Given the description of an element on the screen output the (x, y) to click on. 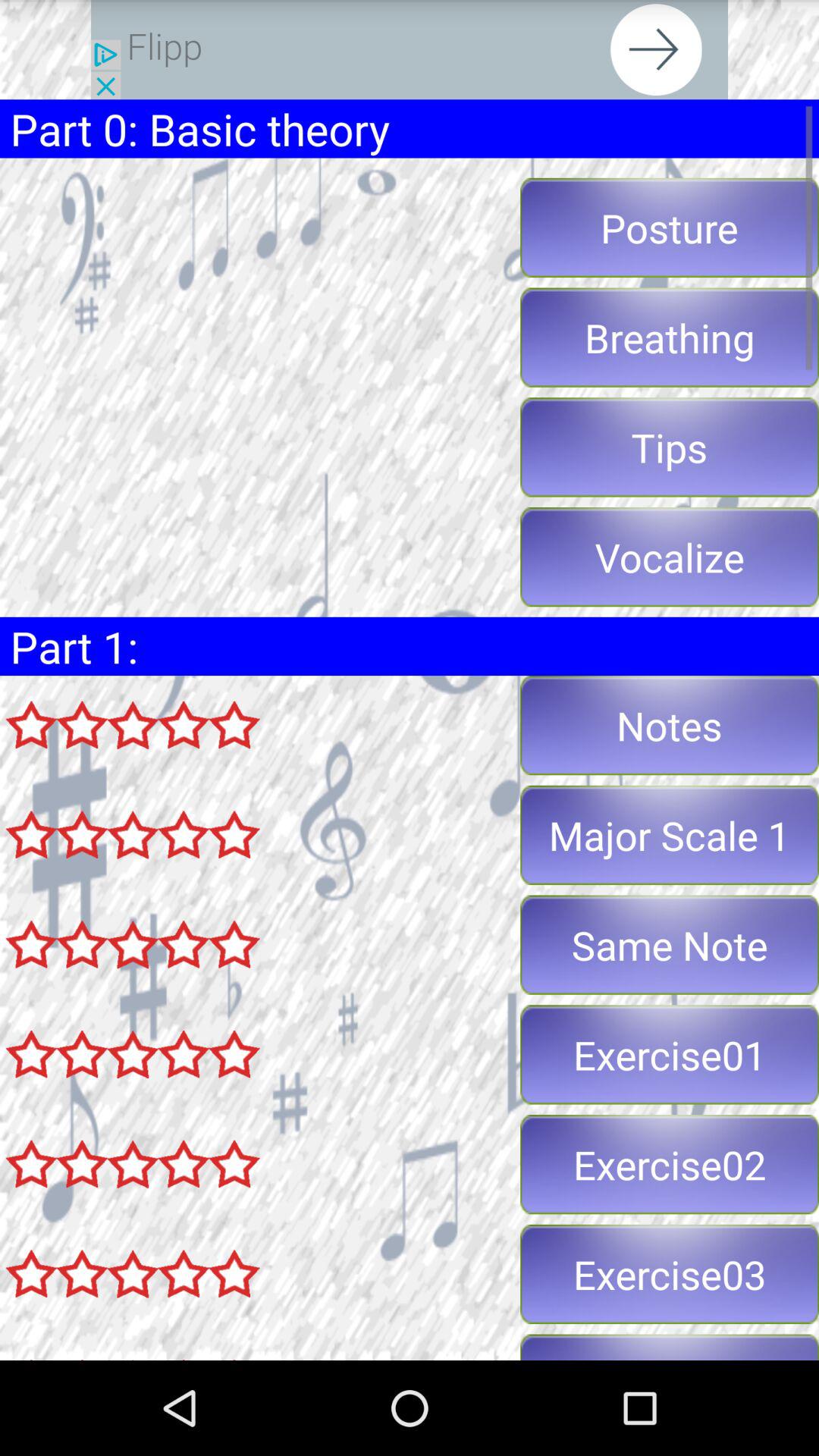
share the article (409, 49)
